Given the description of an element on the screen output the (x, y) to click on. 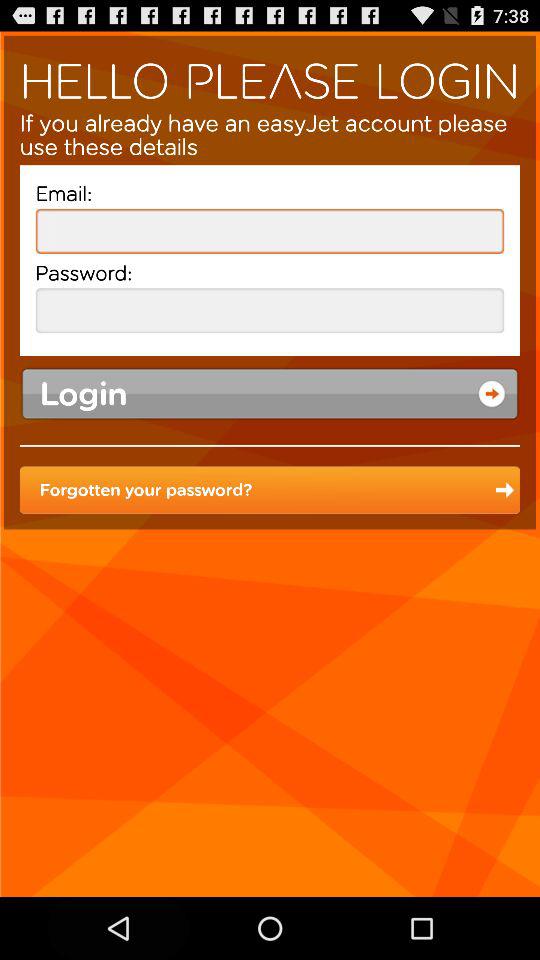
password button (269, 310)
